Given the description of an element on the screen output the (x, y) to click on. 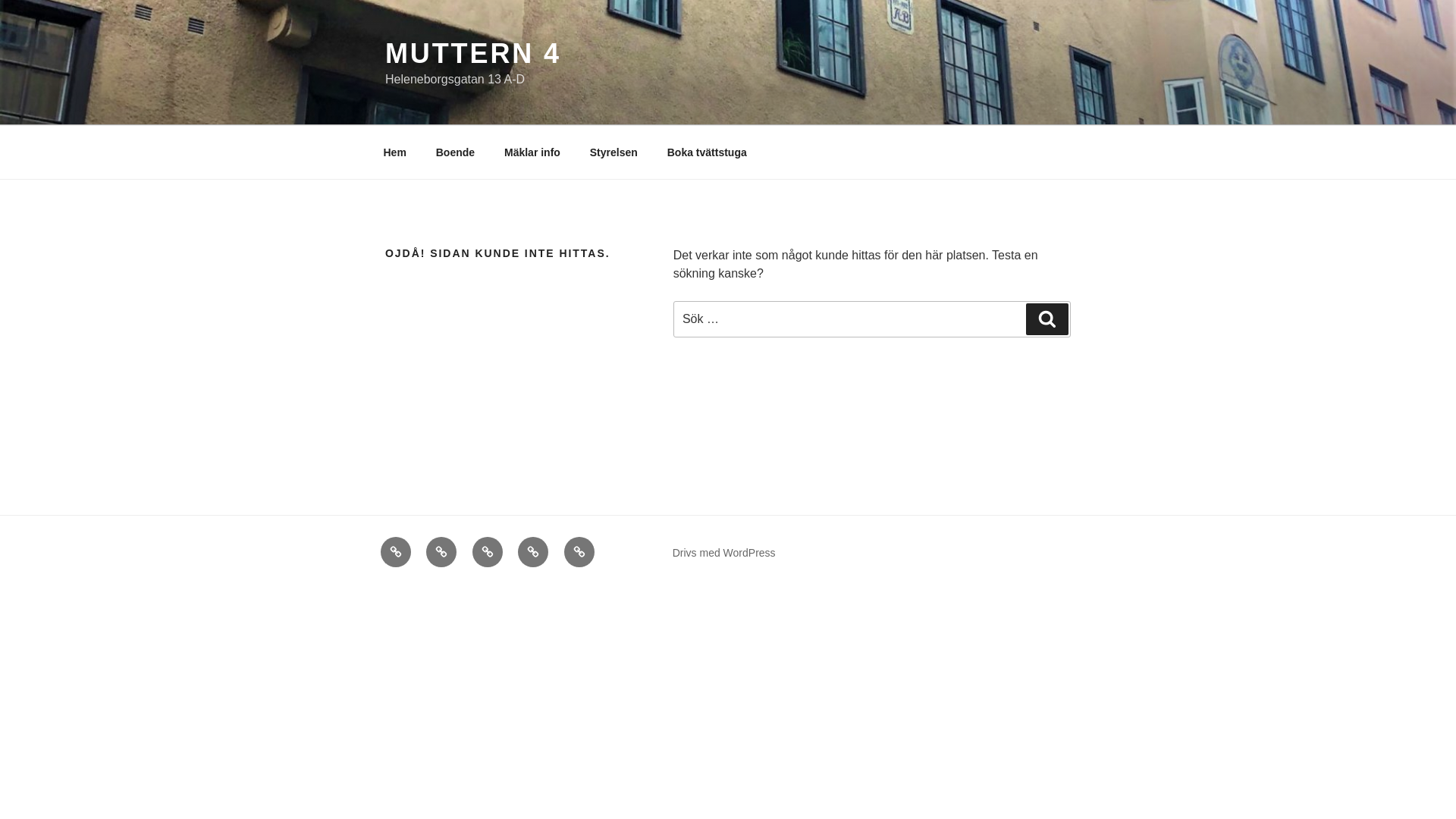
Hem (395, 552)
Drivs med WordPress (724, 552)
Boende (454, 151)
Hem (394, 151)
Styrelsen (613, 151)
Boende (441, 552)
Styrelsen (533, 552)
MUTTERN 4 (472, 52)
